Given the description of an element on the screen output the (x, y) to click on. 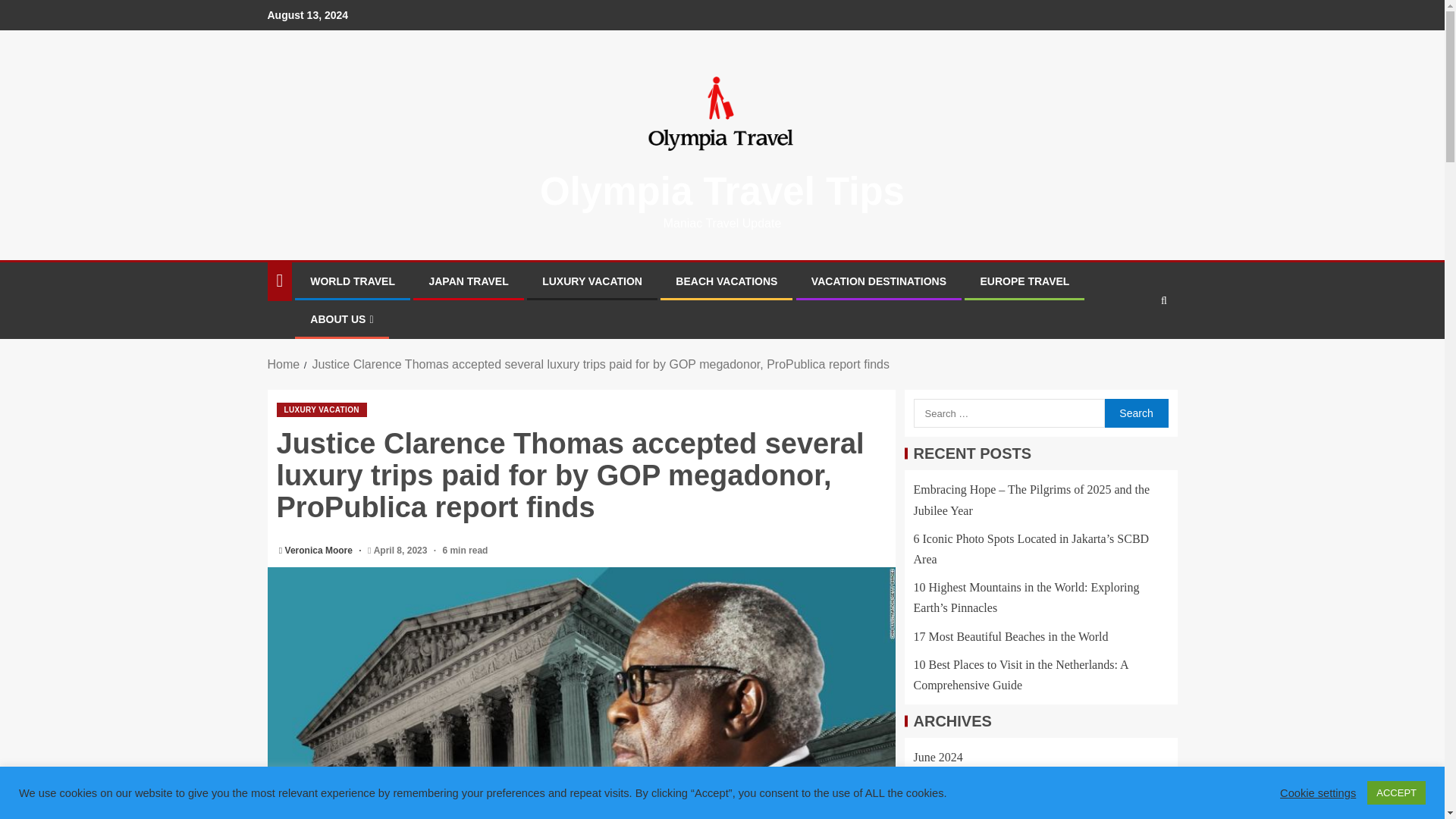
Home (282, 364)
EUROPE TRAVEL (1023, 281)
WORLD TRAVEL (352, 281)
BEACH VACATIONS (726, 281)
Search (1135, 412)
Search (1135, 412)
VACATION DESTINATIONS (878, 281)
Olympia Travel Tips (722, 190)
